Given the description of an element on the screen output the (x, y) to click on. 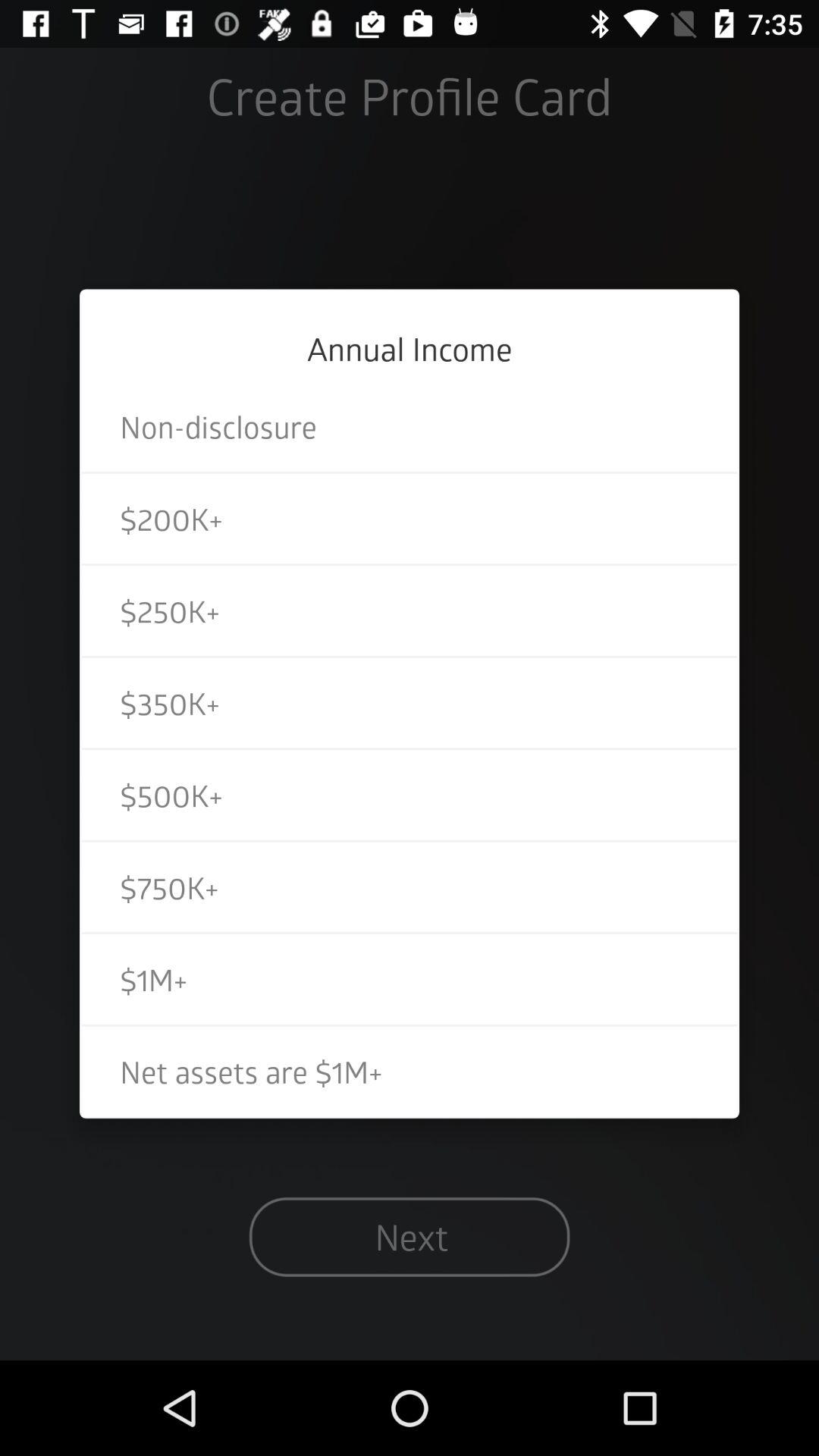
swipe until the net assets are item (409, 1071)
